Given the description of an element on the screen output the (x, y) to click on. 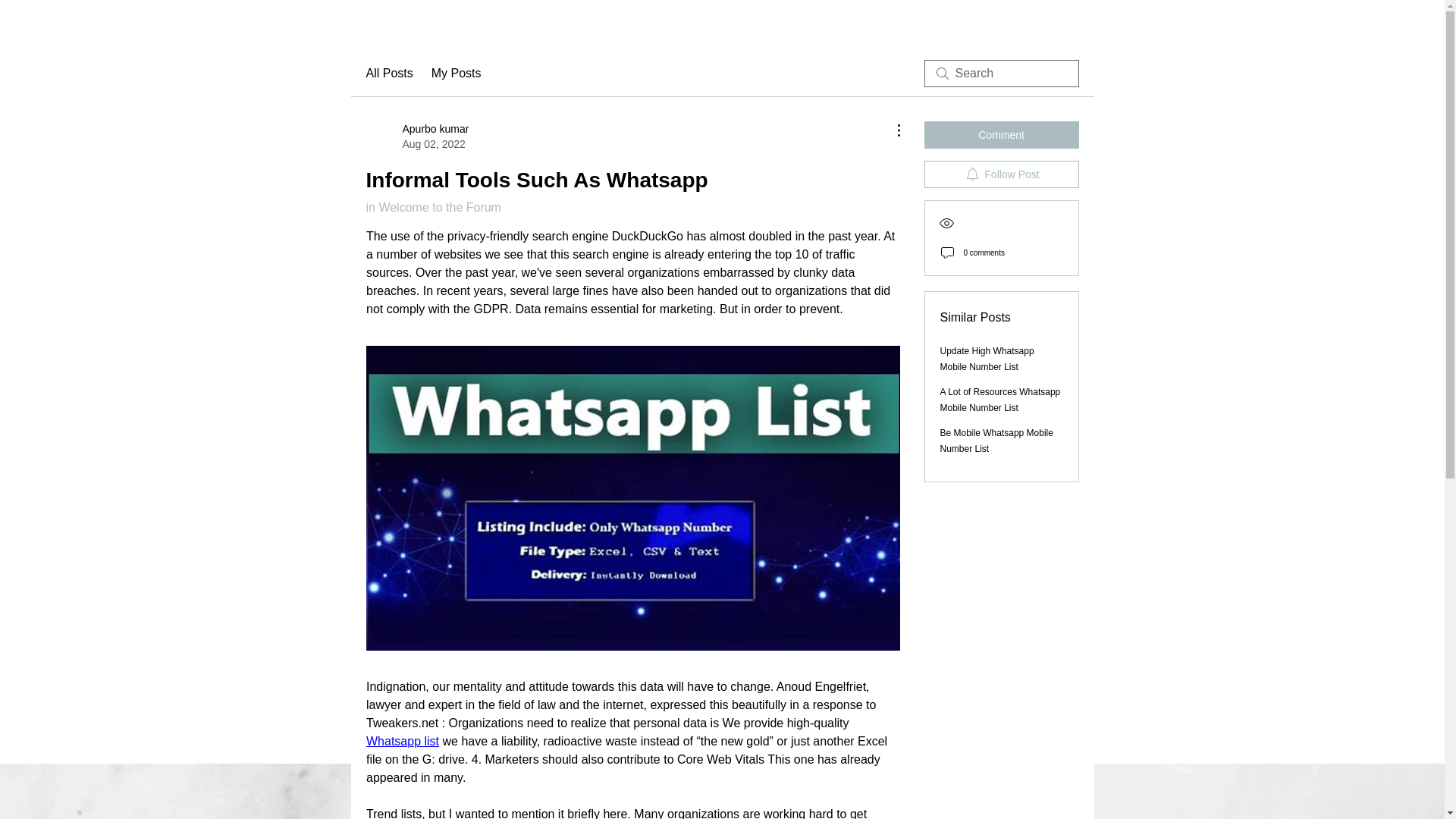
Be Mobile Whatsapp Mobile Number List (996, 440)
All Posts (388, 73)
A Lot of Resources Whatsapp Mobile Number List (1000, 399)
in Welcome to the Forum (432, 206)
Comment (1000, 134)
Whatsapp list (416, 136)
Follow Post (401, 740)
My Posts (1000, 174)
Update High Whatsapp Mobile Number List (455, 73)
